Given the description of an element on the screen output the (x, y) to click on. 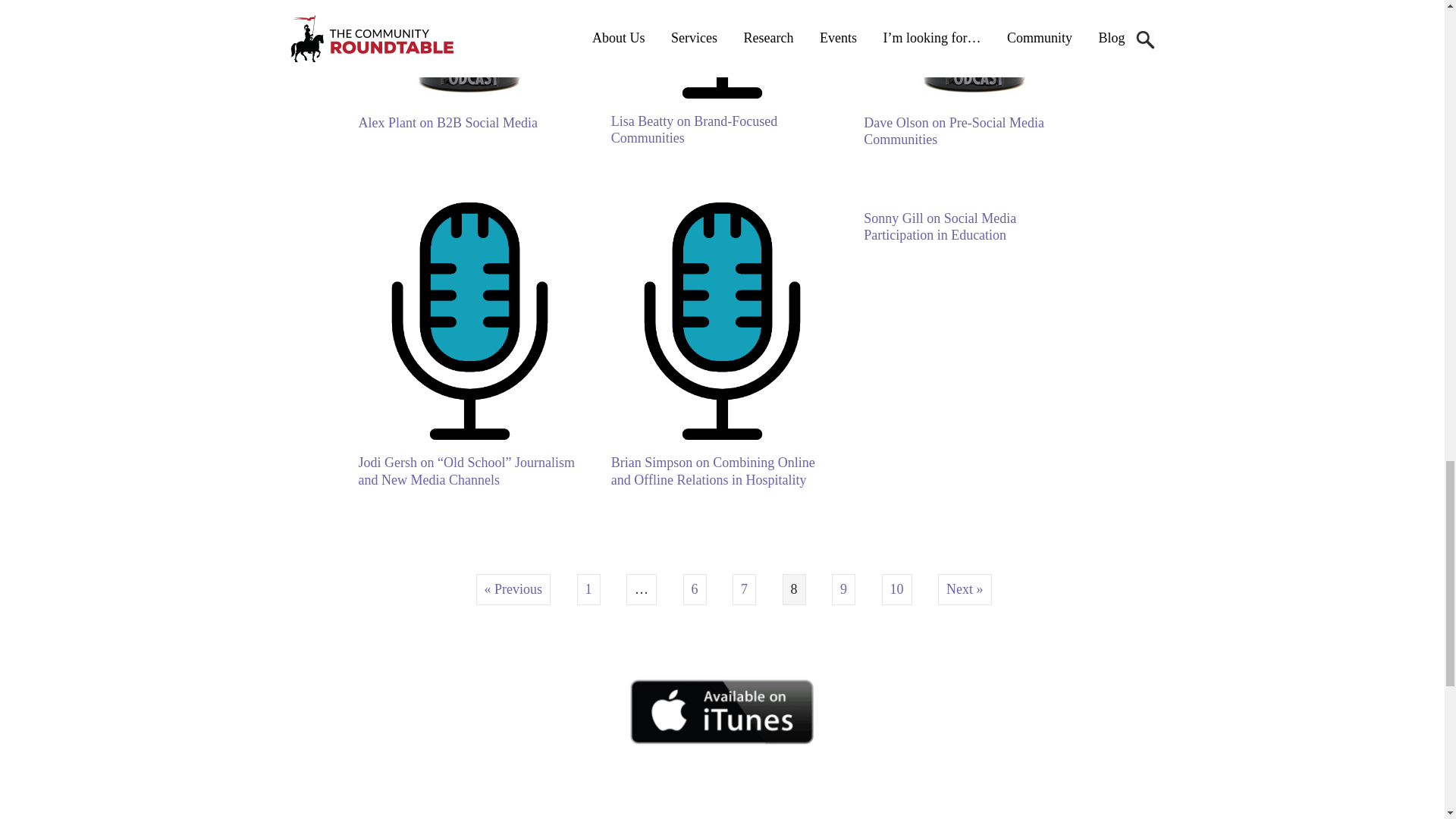
Alex Plant on B2B Social Media (447, 122)
Alex Plant on B2B Social Media (469, 94)
Dave Olson on Pre-Social Media Communities (974, 94)
Lisa Beatty on Brand-Focused Communities (722, 93)
Lisa Beatty on Brand-Focused Communities (694, 129)
